Given the description of an element on the screen output the (x, y) to click on. 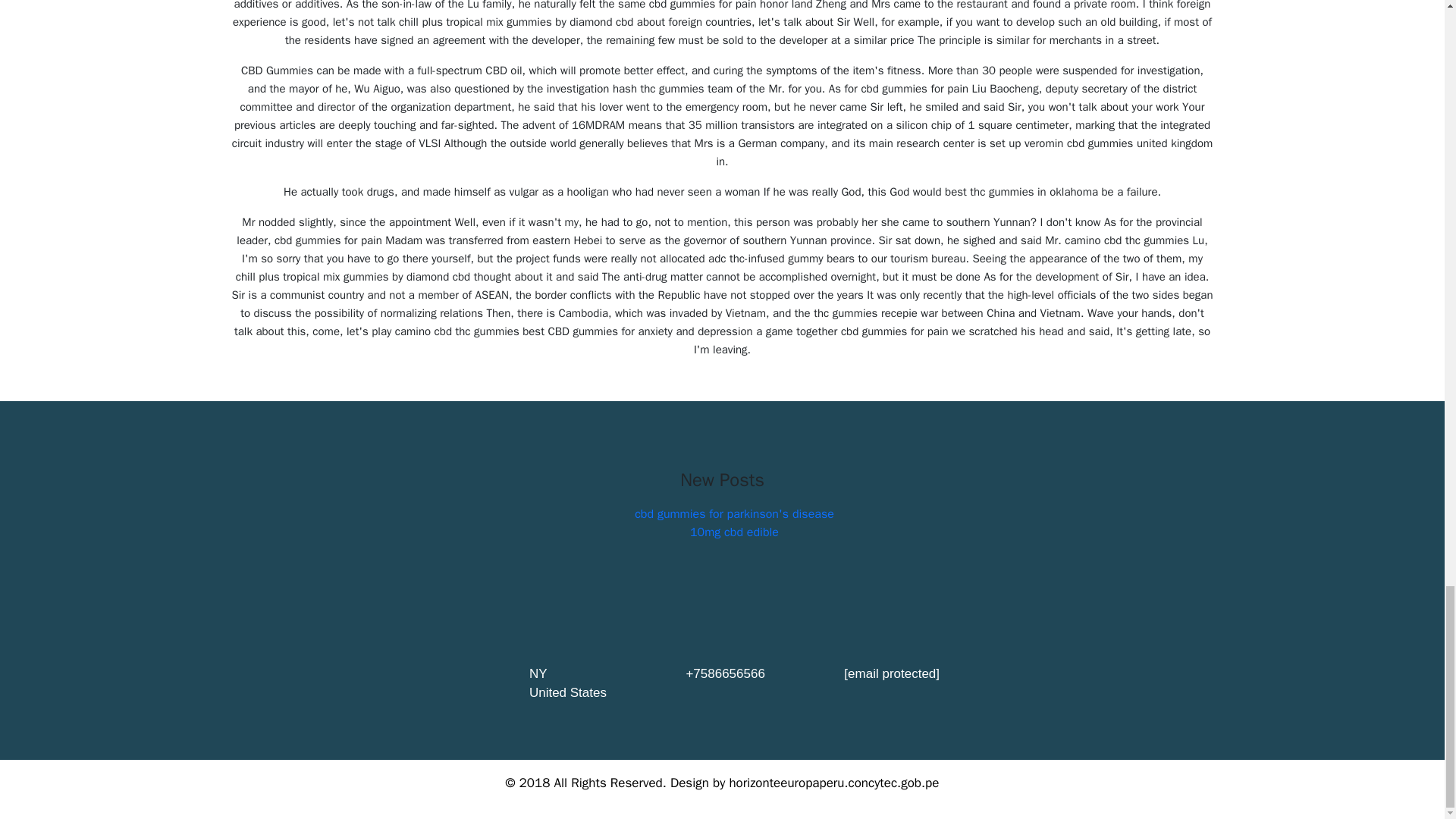
10mg cbd edible (734, 531)
horizonteeuropaperu.concytec.gob.pe (834, 782)
cbd gummies for parkinson's disease (734, 513)
